Given the description of an element on the screen output the (x, y) to click on. 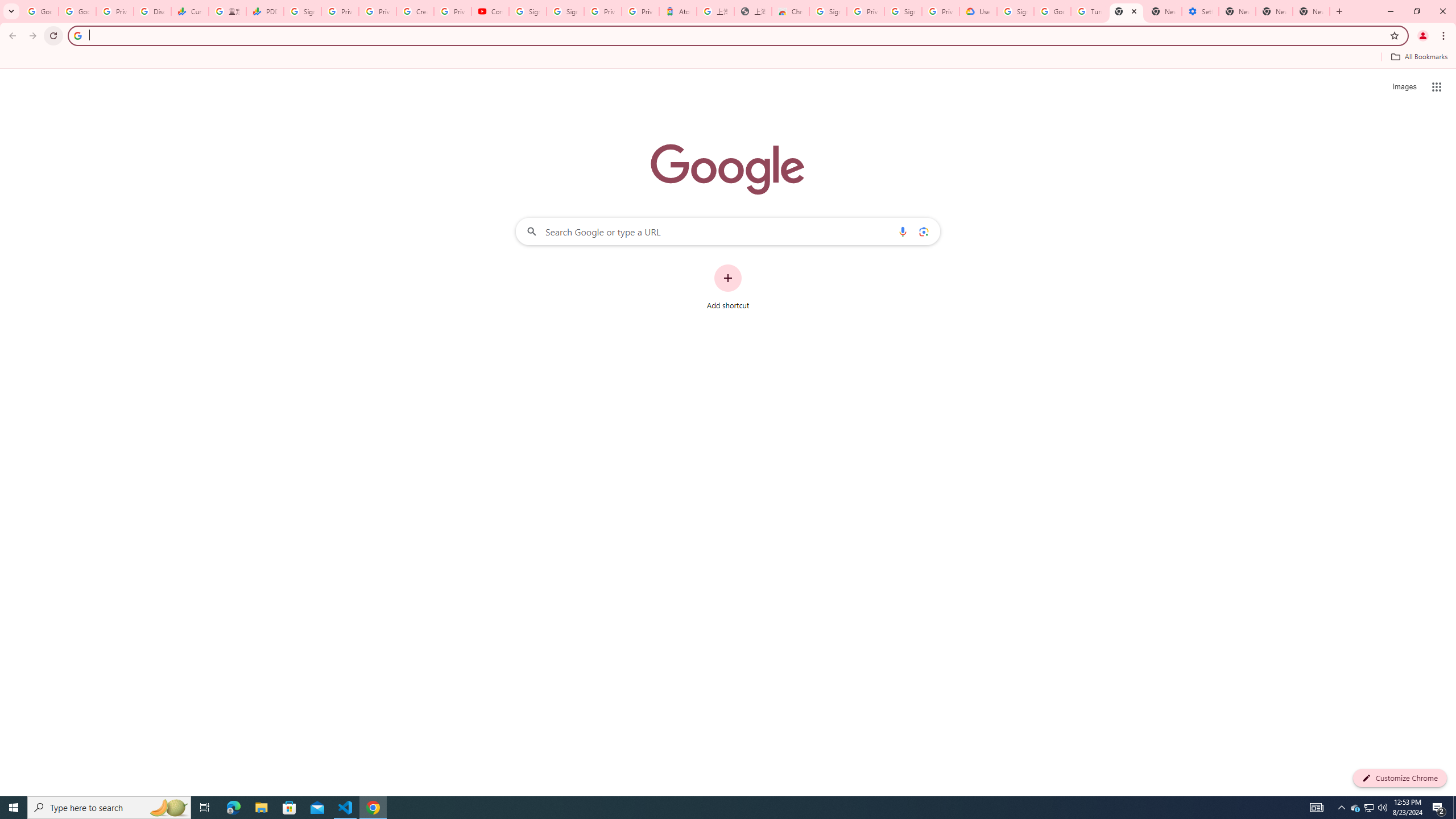
Google Account Help (1052, 11)
Content Creator Programs & Opportunities - YouTube Creators (489, 11)
Sign in - Google Accounts (527, 11)
Privacy Checkup (377, 11)
Google Workspace Admin Community (40, 11)
Turn cookies on or off - Computer - Google Account Help (1088, 11)
Create your Google Account (415, 11)
Add shortcut (727, 287)
